Given the description of an element on the screen output the (x, y) to click on. 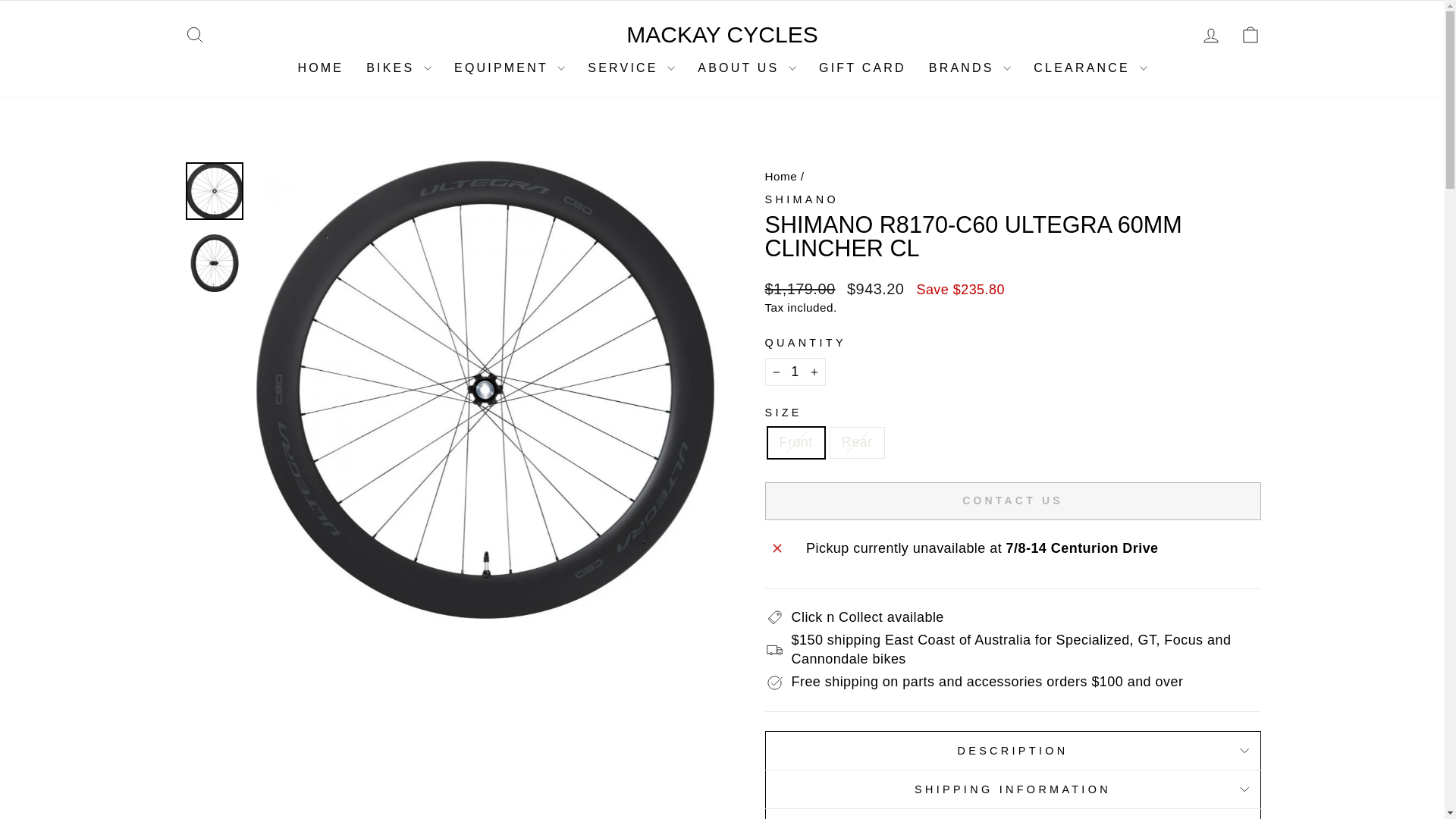
ACCOUNT (1210, 35)
ICON-SEARCH (194, 34)
Shimano (801, 199)
ICON-BAG-MINIMAL (1249, 34)
Back to the frontpage (780, 175)
1 (794, 371)
